Given the description of an element on the screen output the (x, y) to click on. 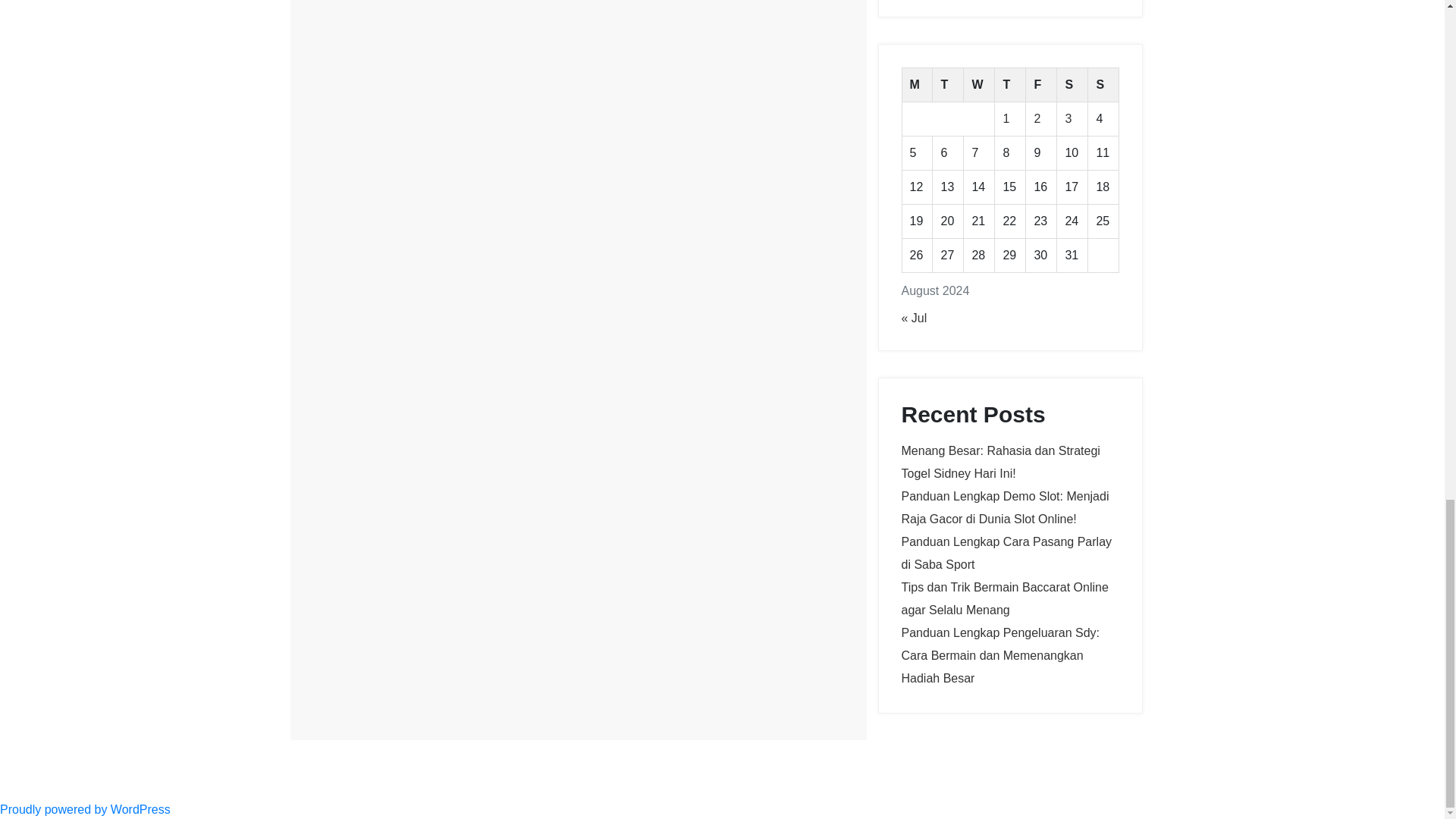
Friday (1041, 84)
Wednesday (978, 84)
Tuesday (948, 84)
Monday (917, 84)
Saturday (1072, 84)
Thursday (1010, 84)
Sunday (1103, 84)
Important Things You Should Know Before Playing Roulette (439, 15)
